Given the description of an element on the screen output the (x, y) to click on. 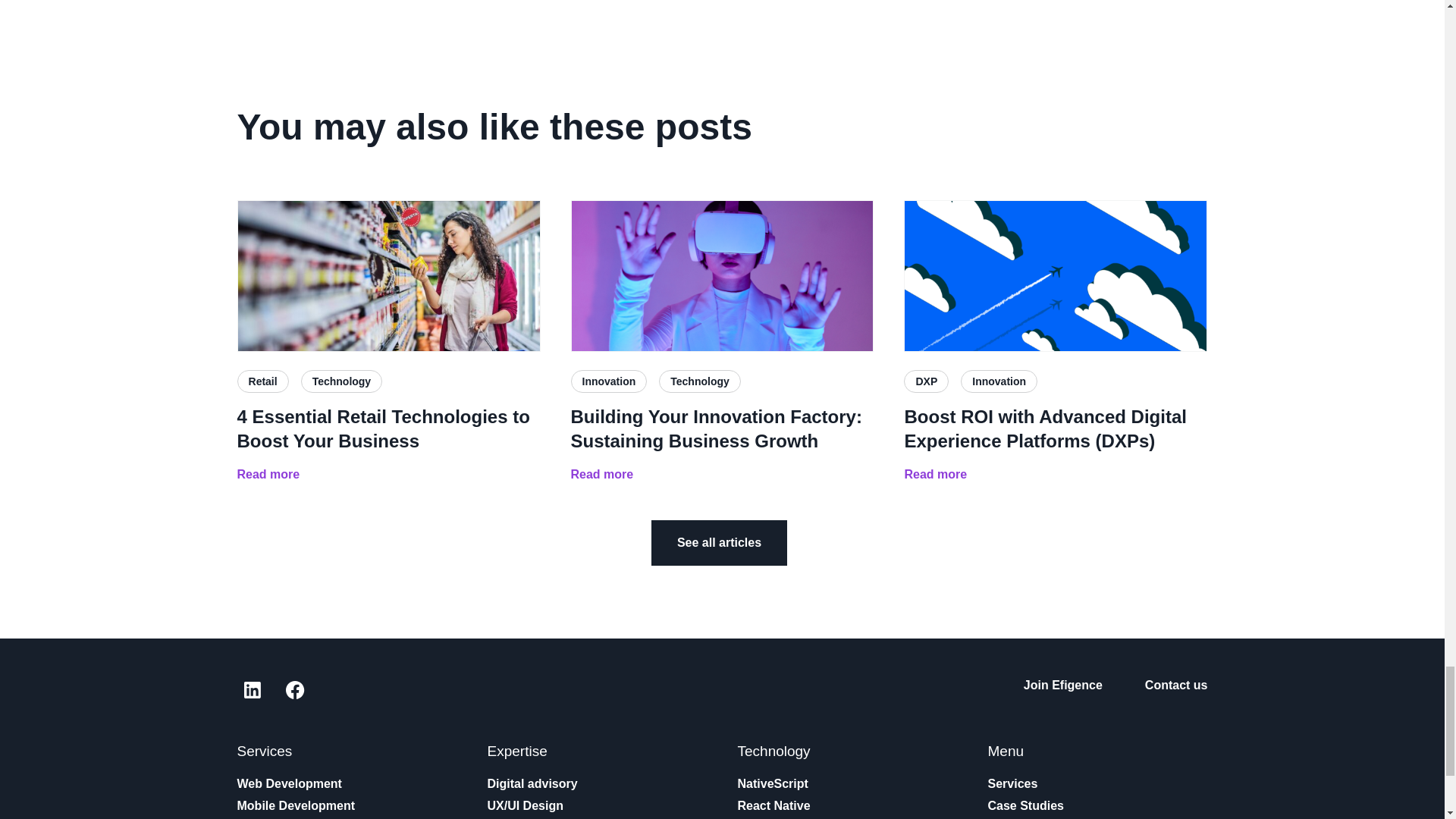
Technology (341, 381)
Retail (262, 381)
Innovation (998, 381)
Building Your Innovation Factory: Sustaining Business Growth (721, 428)
DXP (926, 381)
Technology (700, 381)
Read more (268, 475)
Facebook (293, 689)
See all articles (718, 542)
Innovation (608, 381)
